Given the description of an element on the screen output the (x, y) to click on. 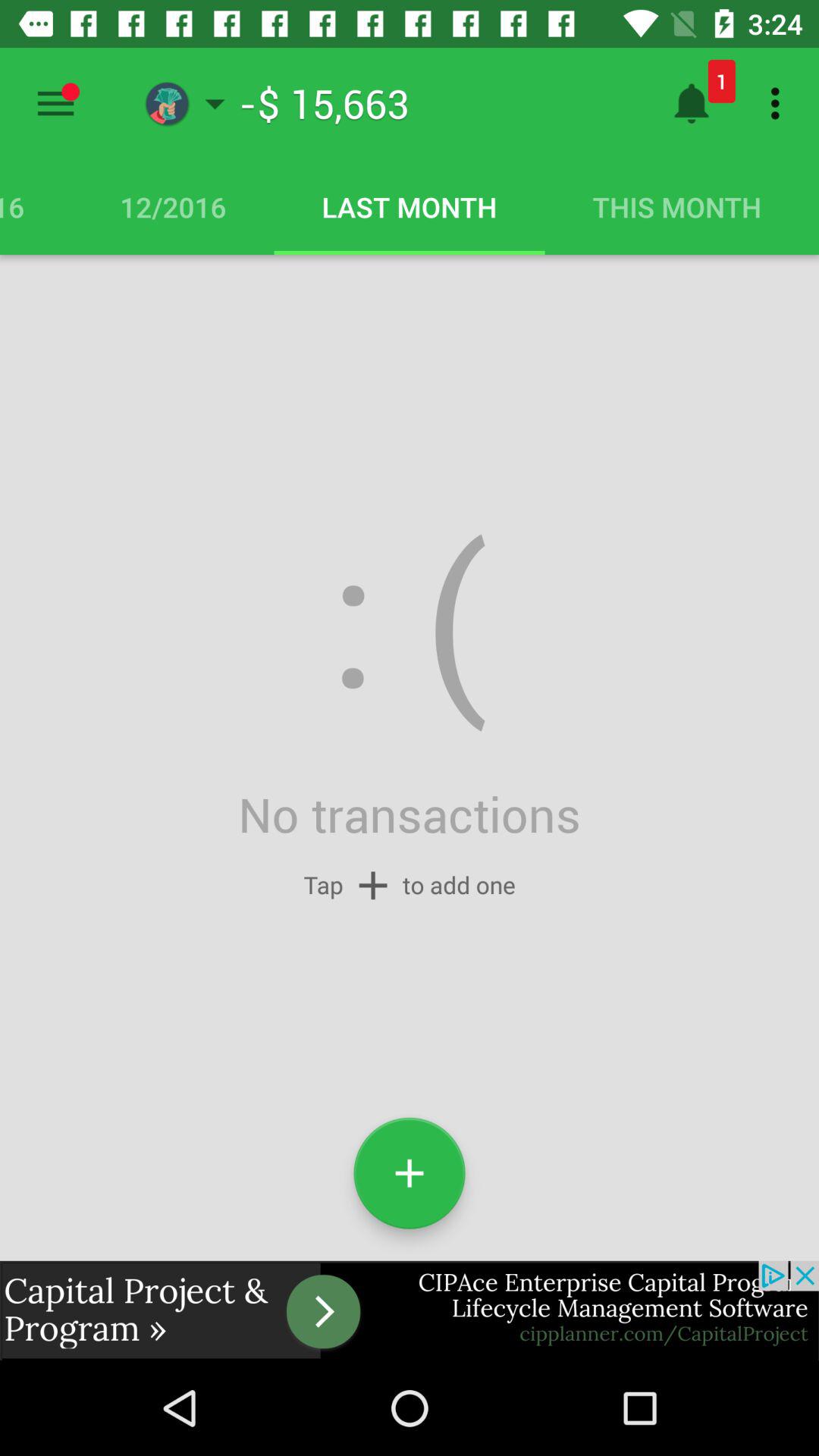
show a menu of actions (55, 103)
